Given the description of an element on the screen output the (x, y) to click on. 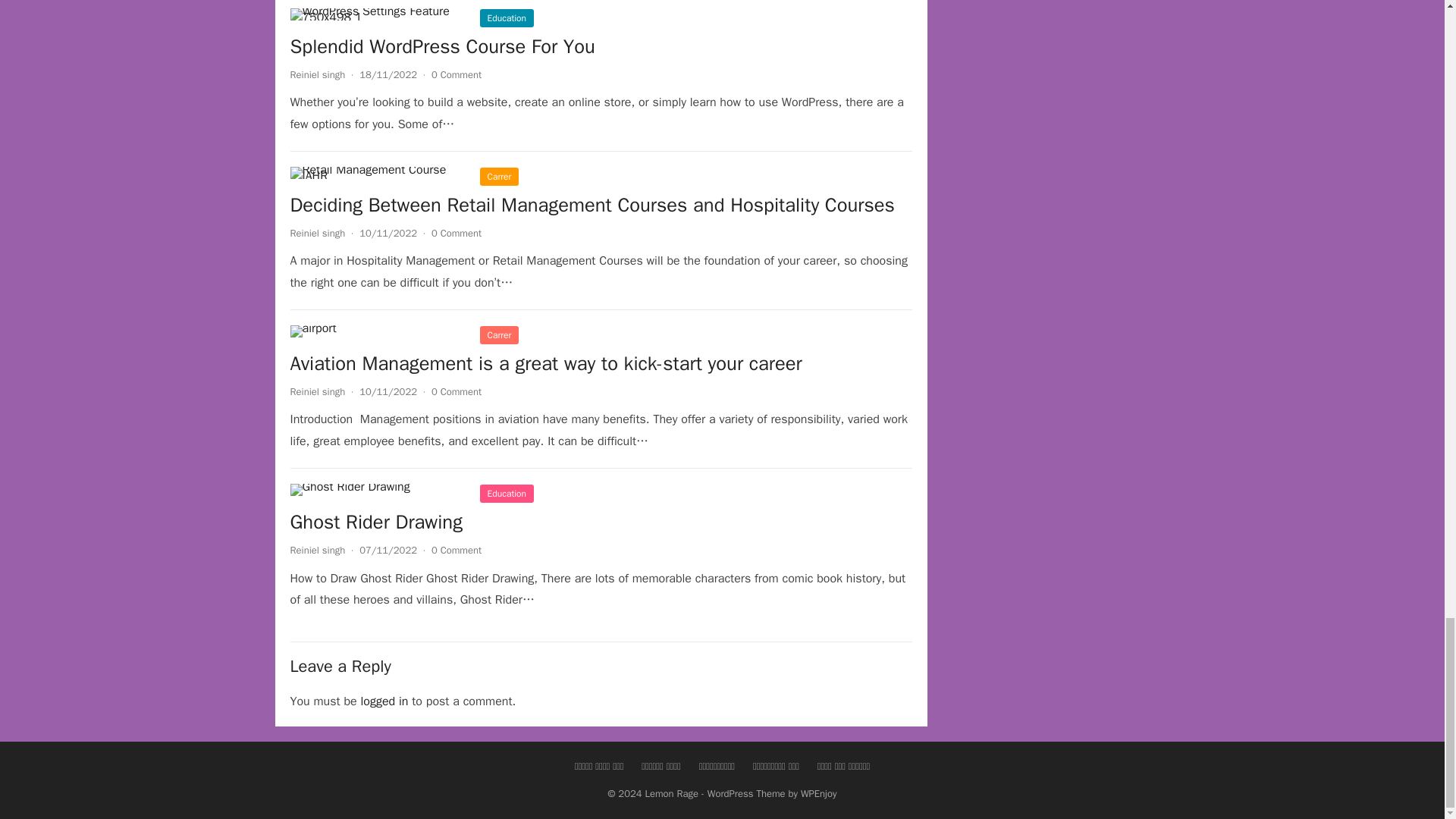
Splendid WordPress Course For You (376, 14)
Posts by Reiniel singh (317, 74)
